Given the description of an element on the screen output the (x, y) to click on. 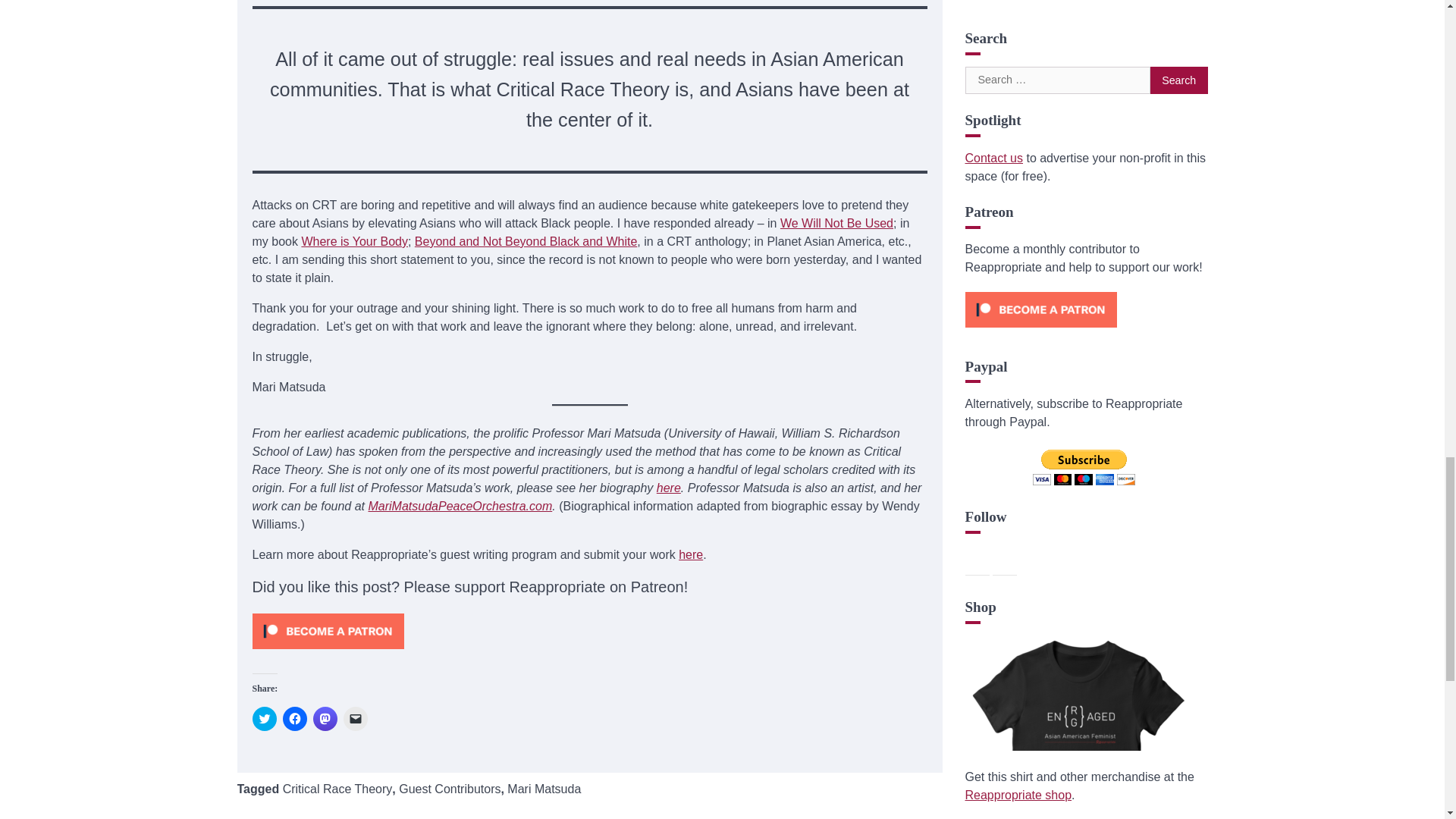
We Will Not Be Used (836, 223)
Click to share on Facebook (293, 718)
Click to share on Twitter (263, 718)
Click to share on Mastodon (324, 718)
Click to email a link to a friend (354, 718)
